Given the description of an element on the screen output the (x, y) to click on. 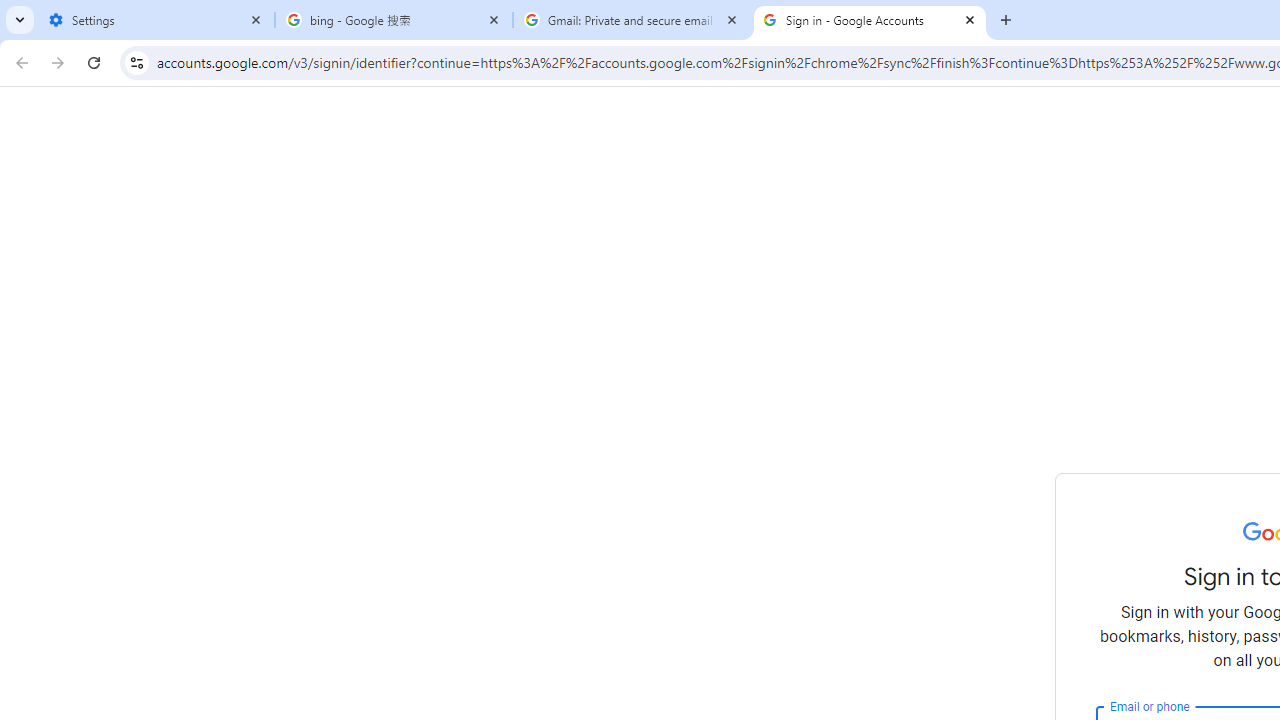
Settings (156, 20)
Sign in - Google Accounts (870, 20)
